Given the description of an element on the screen output the (x, y) to click on. 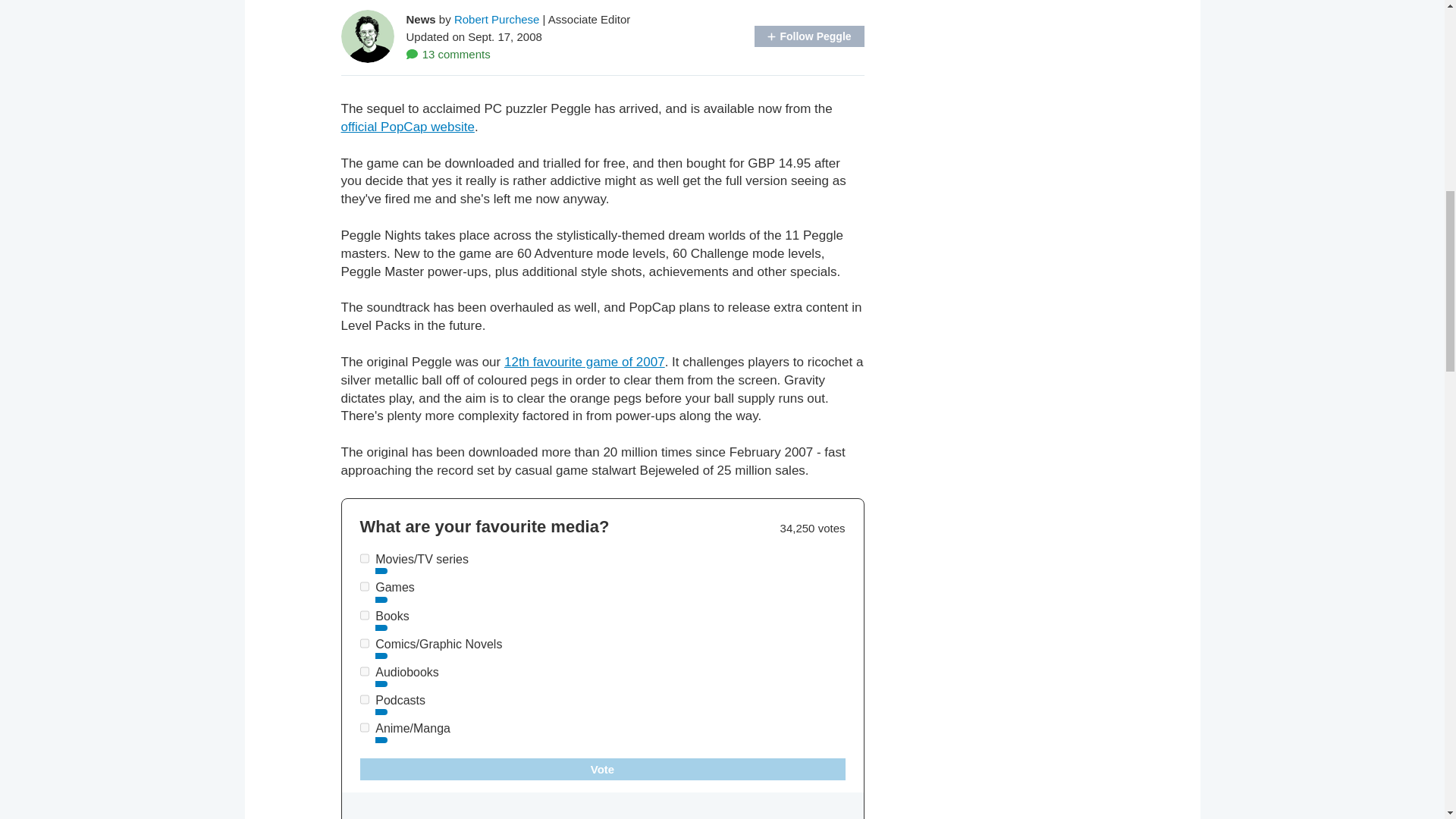
12th favourite game of 2007 (584, 361)
official PopCap website (407, 126)
on (364, 586)
13 comments (448, 52)
Follow Peggle (808, 35)
on (364, 643)
on (364, 671)
on (364, 699)
Vote (601, 769)
on (364, 614)
on (364, 727)
Follow Peggle (808, 35)
on (364, 558)
Robert Purchese (497, 18)
